Given the description of an element on the screen output the (x, y) to click on. 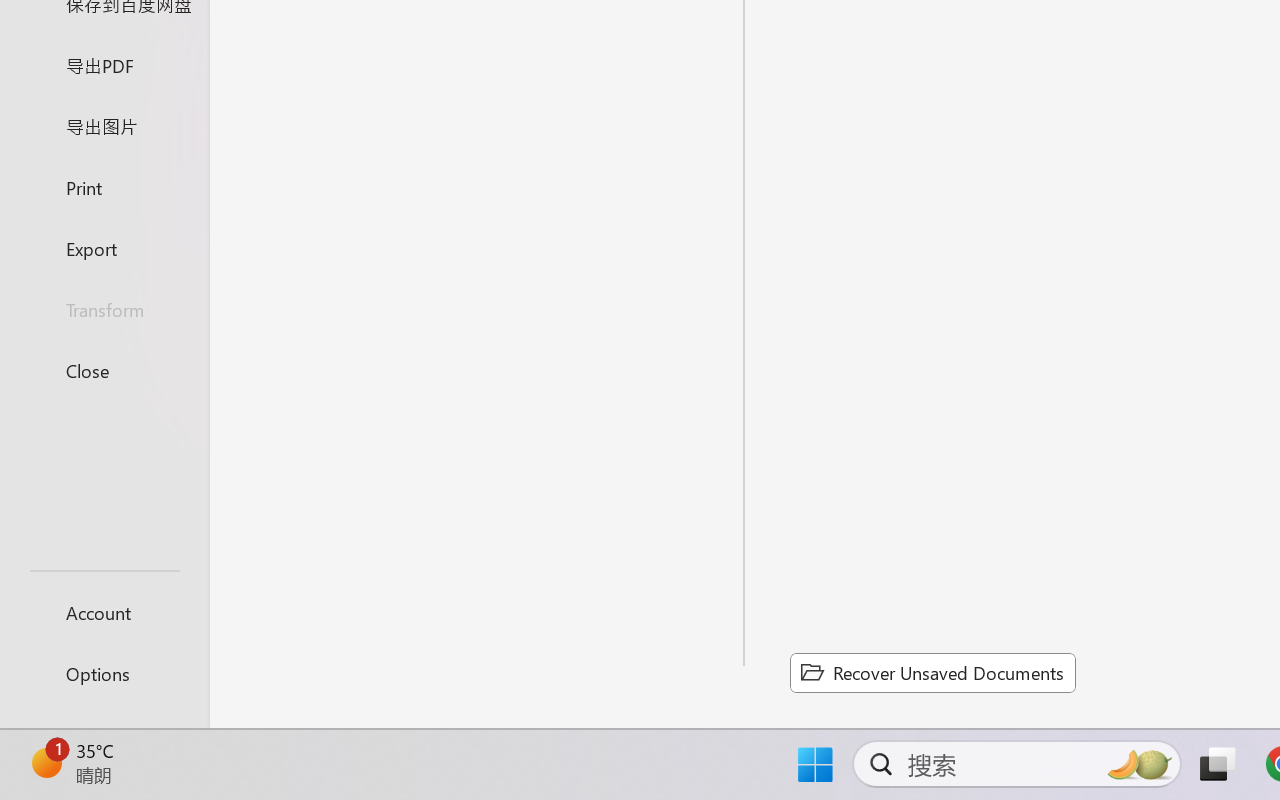
Options (104, 673)
Print (104, 186)
Recover Unsaved Documents (932, 672)
Account (104, 612)
Export (104, 248)
Transform (104, 309)
